Given the description of an element on the screen output the (x, y) to click on. 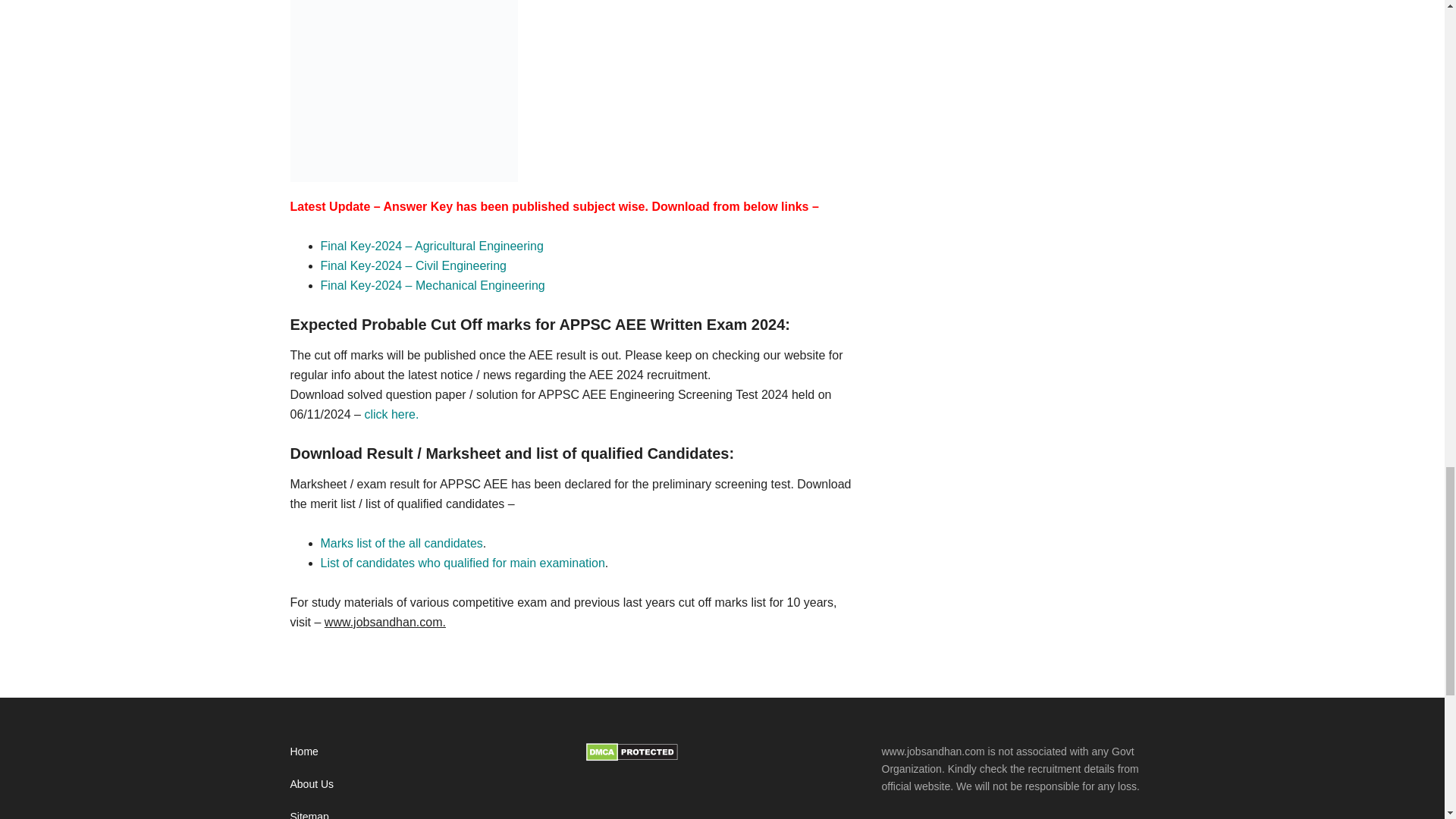
DMCA.com Protection Status (631, 757)
click here. (391, 413)
Home (303, 751)
Marks list of the all candidates (400, 543)
Sitemap (309, 814)
List of candidates who qualified for main examination (462, 562)
About Us (311, 784)
